Given the description of an element on the screen output the (x, y) to click on. 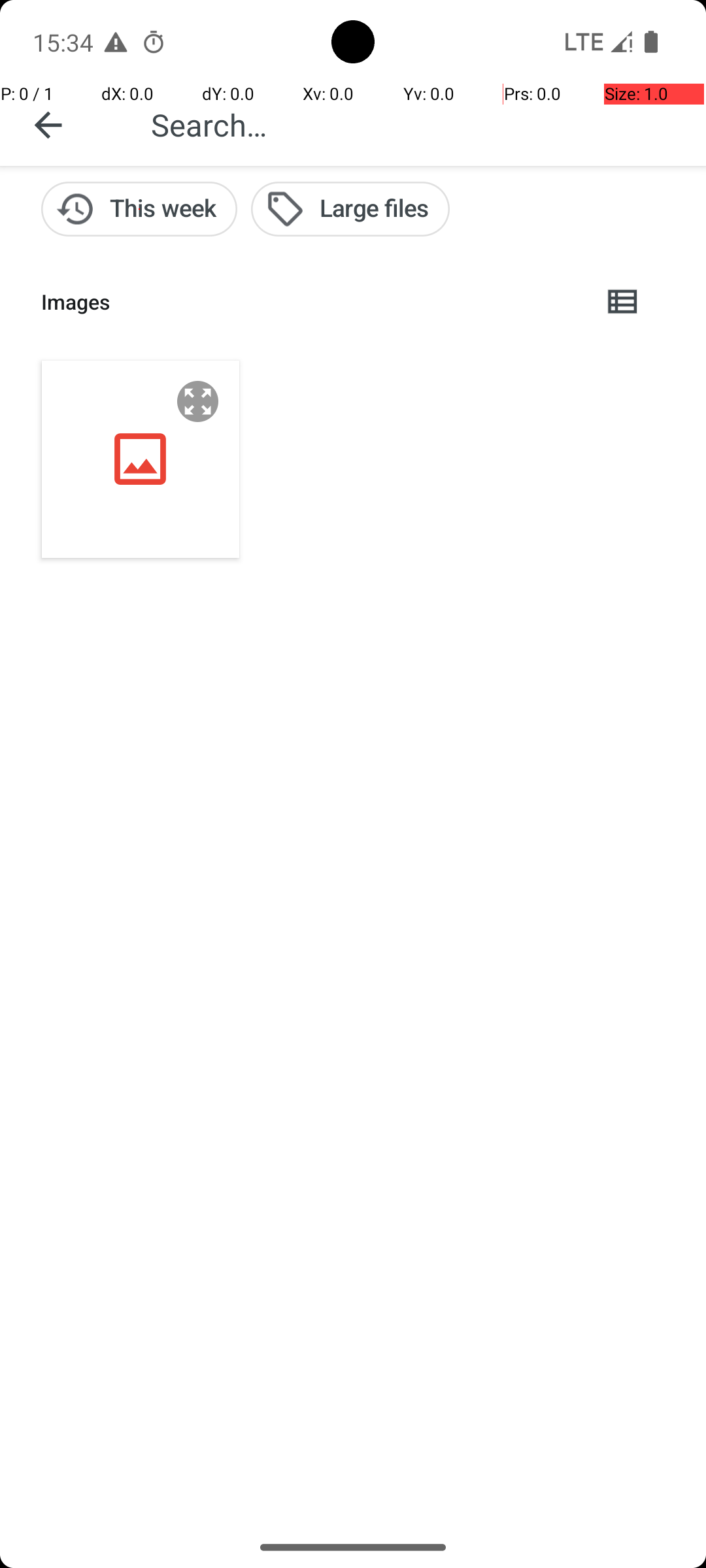
IMG_20231015_153414.jpg, 145 kB, 15:34 Element type: android.widget.LinearLayout (140, 458)
Preview the file IMG_20231015_153414.jpg Element type: android.widget.FrameLayout (197, 401)
